Given the description of an element on the screen output the (x, y) to click on. 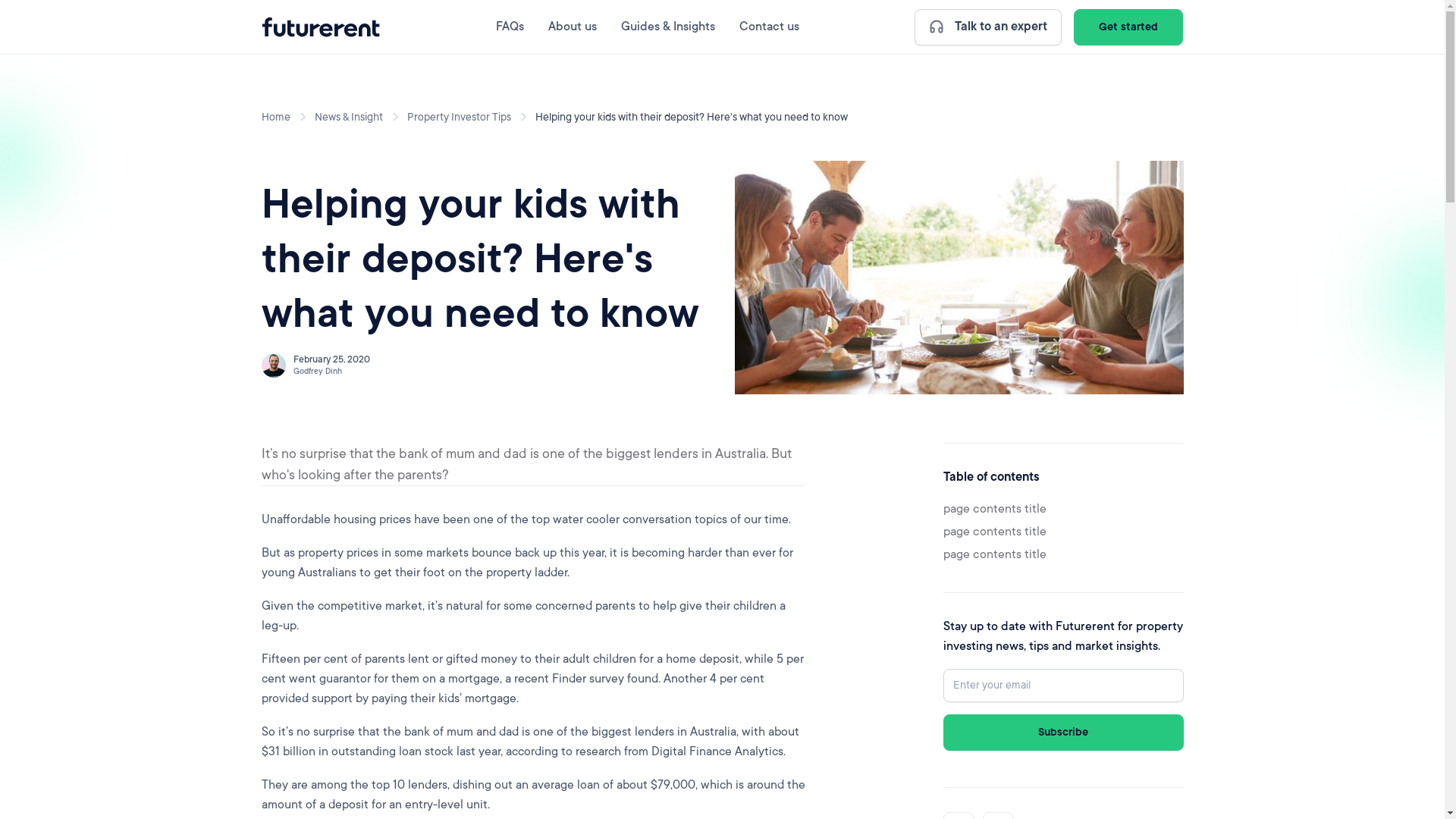
page contents title Element type: text (994, 554)
page contents title Element type: text (994, 508)
Guides & Insights Element type: text (667, 27)
Contact us Element type: text (769, 27)
FAQs Element type: text (509, 27)
News & Insight Element type: text (347, 116)
page contents title Element type: text (994, 531)
Home Element type: text (274, 116)
Property Investor Tips Element type: text (458, 116)
Get started Element type: text (1128, 27)
Talk to an expert Element type: text (987, 27)
Subscribe Element type: text (1063, 732)
About us Element type: text (572, 27)
